Given the description of an element on the screen output the (x, y) to click on. 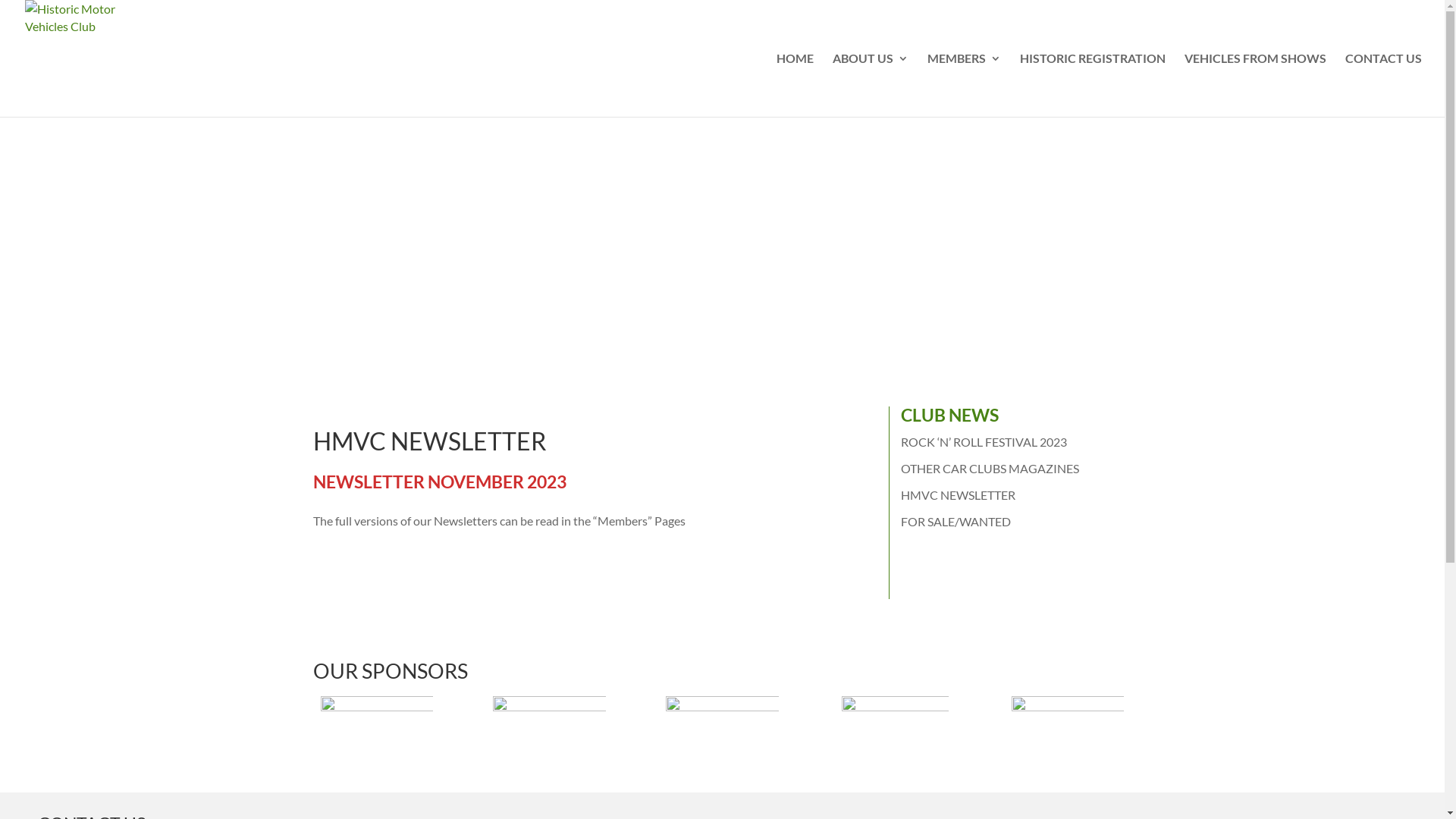
NEWSLETTER NOVEMBER 2023 Element type: text (438, 481)
HISTORIC REGISTRATION Element type: text (1092, 84)
HOME Element type: text (794, 84)
OTHER CAR CLUBS MAGAZINES Element type: text (989, 468)
Collectable-Classic-Cars-logo-web Element type: hover (1067, 725)
MEMBERS Element type: text (964, 84)
CONTACT US Element type: text (1383, 84)
ABOUT US Element type: text (870, 84)
FOR SALE/WANTED Element type: text (955, 521)
VEHICLES FROM SHOWS Element type: text (1255, 84)
HMVC NEWSLETTER Element type: text (957, 494)
